Given the description of an element on the screen output the (x, y) to click on. 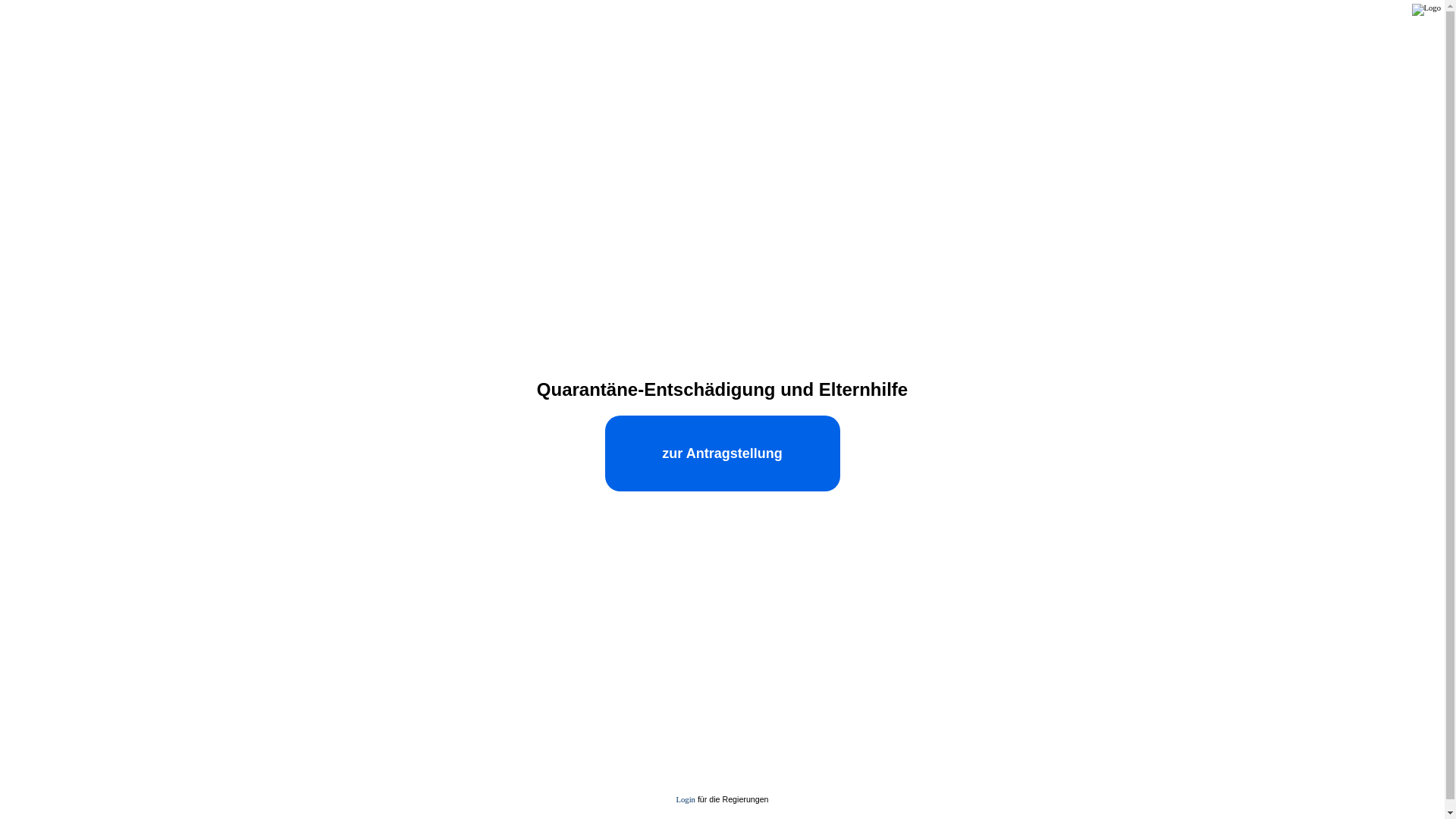
Login Element type: text (684, 799)
zur Antragstellung Element type: text (722, 453)
